Given the description of an element on the screen output the (x, y) to click on. 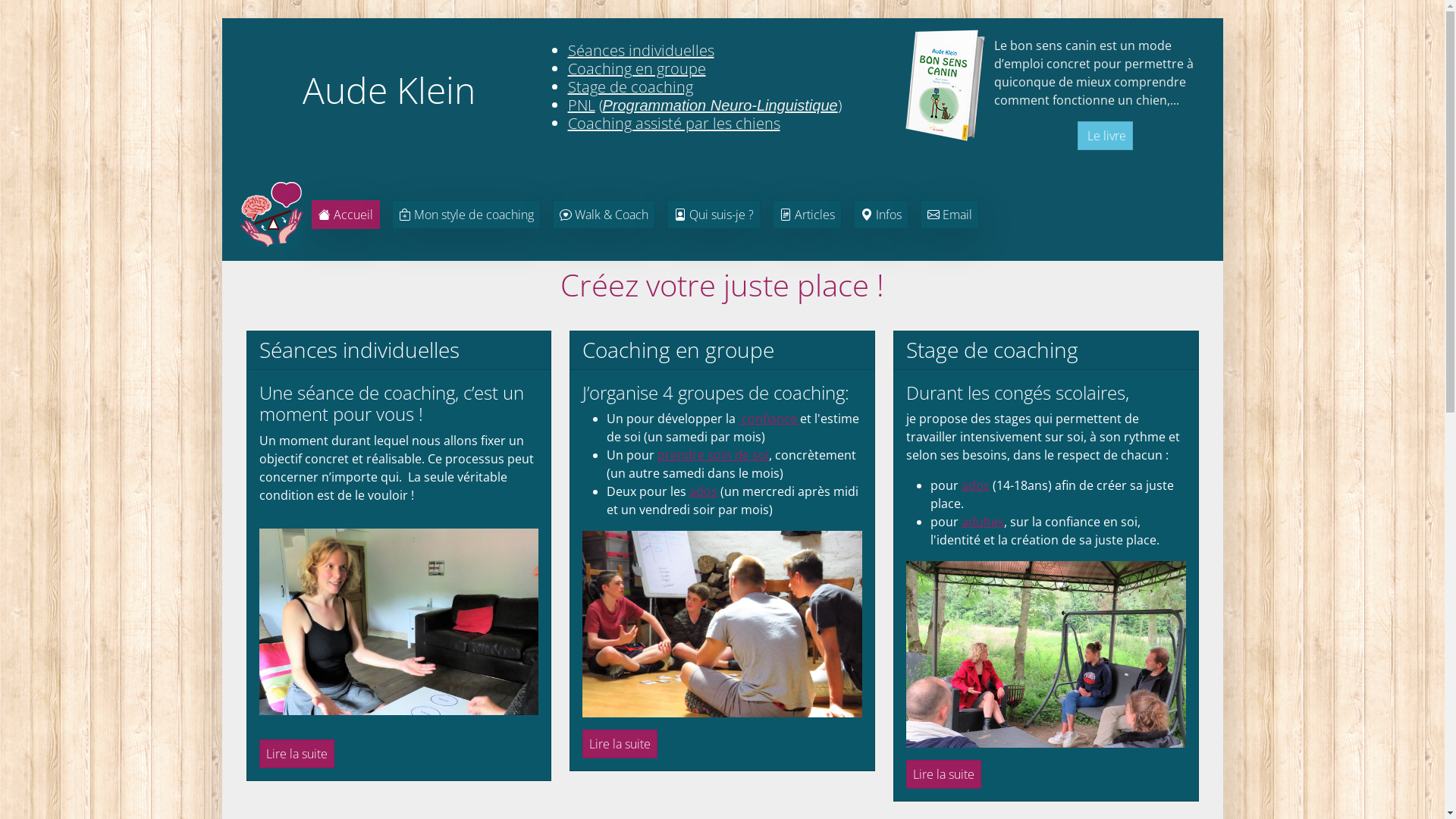
Lire la suite Element type: text (296, 753)
ados Element type: text (975, 484)
Accueil Element type: text (344, 214)
Programmation Neuro-Linguistique Element type: text (719, 105)
Lire la suite Element type: text (619, 743)
Lire la suite Element type: text (943, 773)
 Le livre Element type: text (1104, 135)
Coaching en groupe Element type: text (636, 68)
prendre soin de soi Element type: text (712, 454)
Infos Element type: text (880, 214)
Aude Element type: hover (270, 214)
Articles Element type: text (805, 214)
confiance Element type: text (769, 418)
Qui suis-je ? Element type: text (713, 214)
Email Element type: text (949, 214)
Walk & Coach Element type: text (603, 214)
adultes Element type: text (982, 521)
PNL Element type: text (580, 104)
ados Element type: text (703, 491)
Stage de coaching Element type: text (629, 86)
Mon style de coaching Element type: text (465, 214)
